Given the description of an element on the screen output the (x, y) to click on. 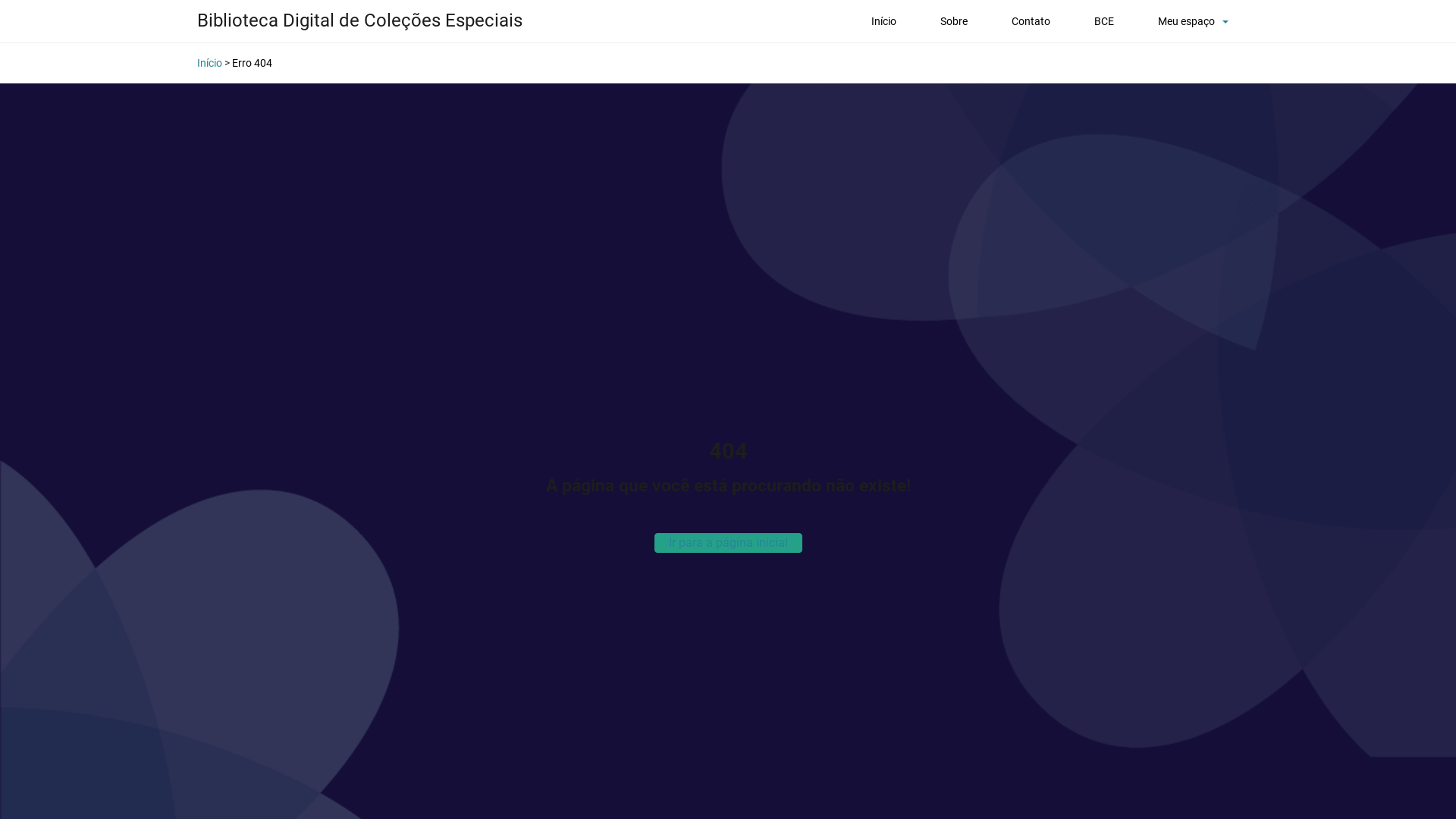
BCE Element type: text (1104, 21)
Sobre Element type: text (953, 21)
Contato Element type: text (1030, 21)
